Given the description of an element on the screen output the (x, y) to click on. 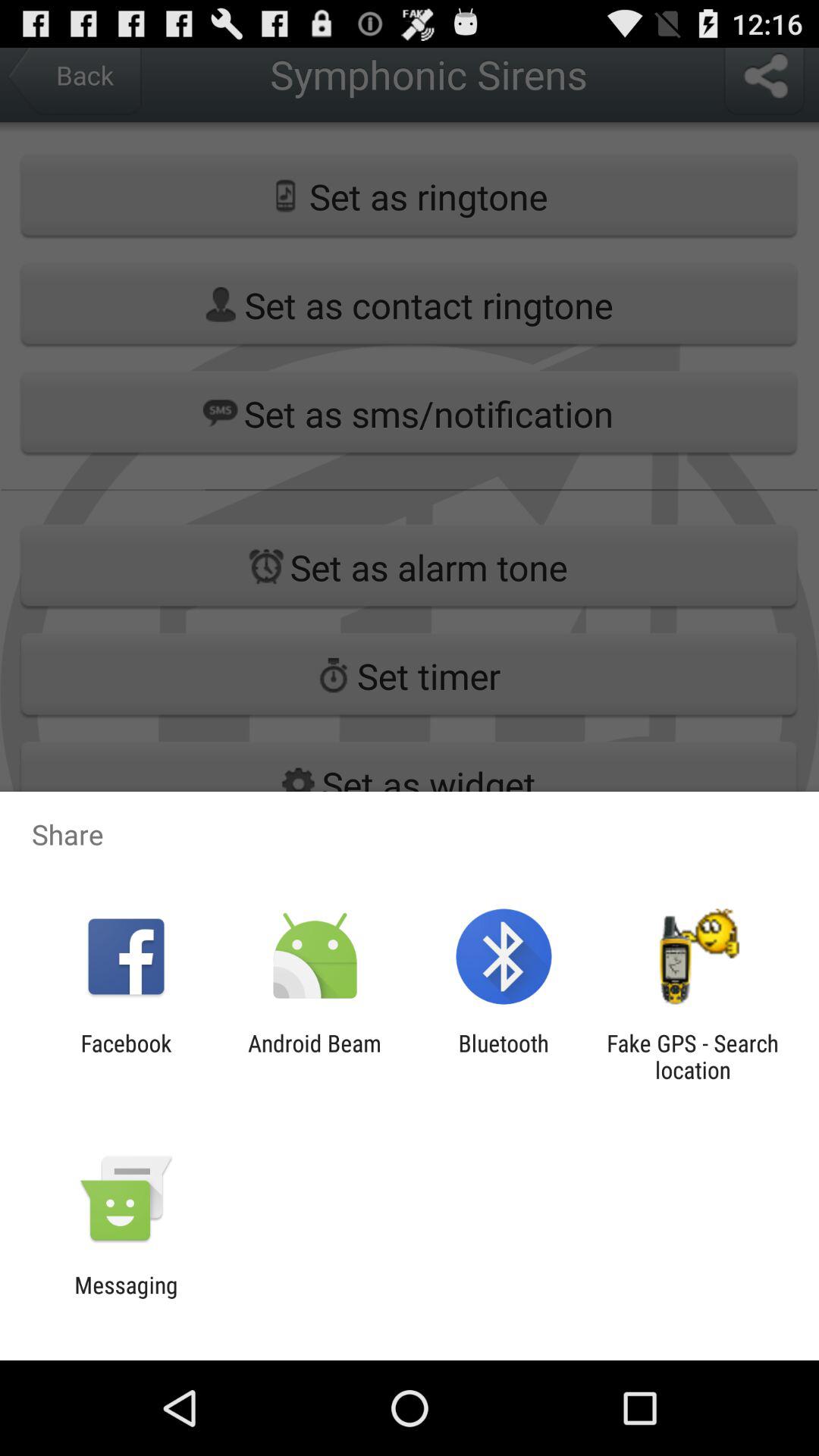
tap the app next to the bluetooth item (314, 1056)
